Given the description of an element on the screen output the (x, y) to click on. 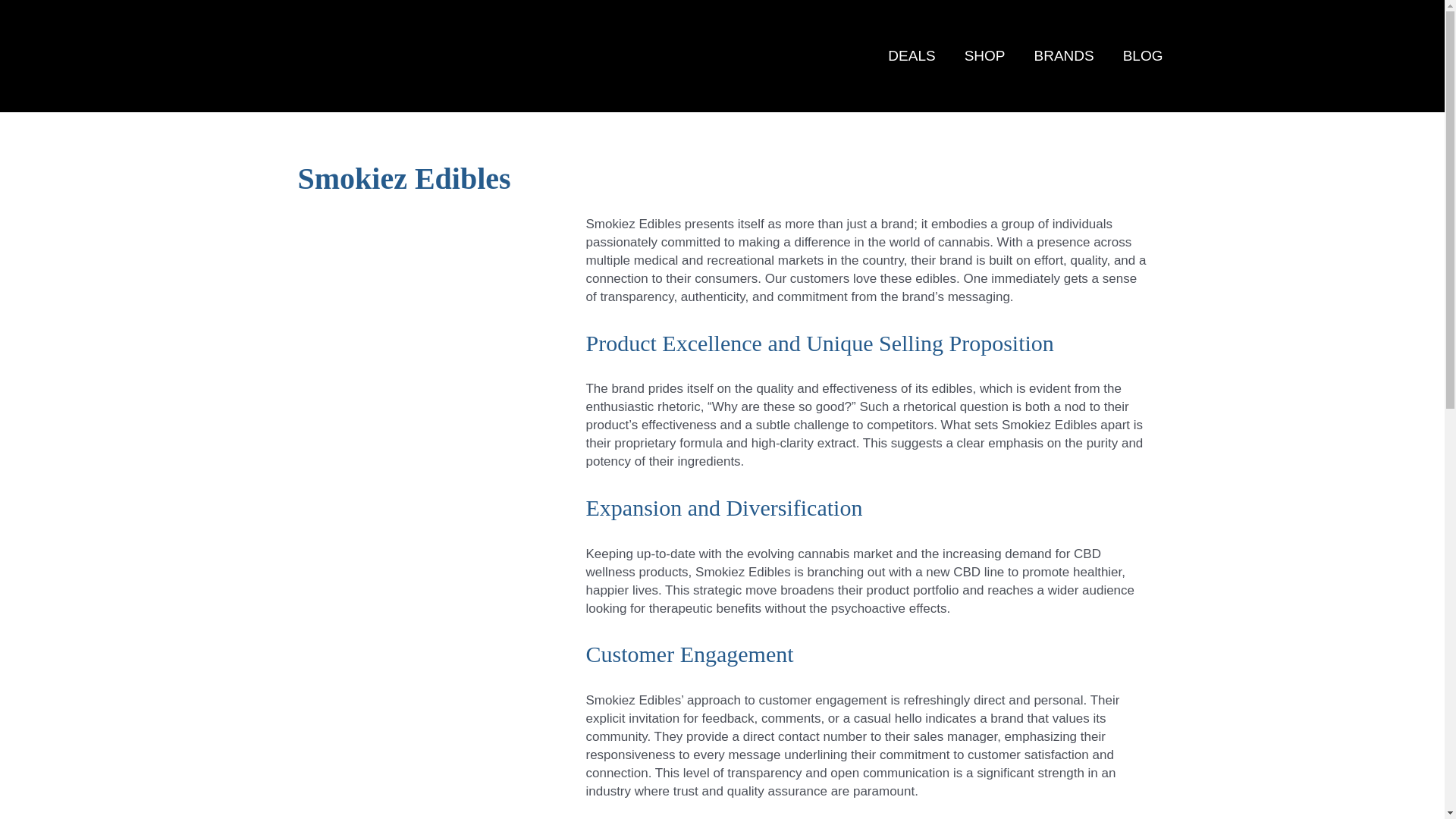
DEALS (911, 55)
SHOP (985, 55)
BLOG (1142, 55)
BRANDS (1063, 55)
